Given the description of an element on the screen output the (x, y) to click on. 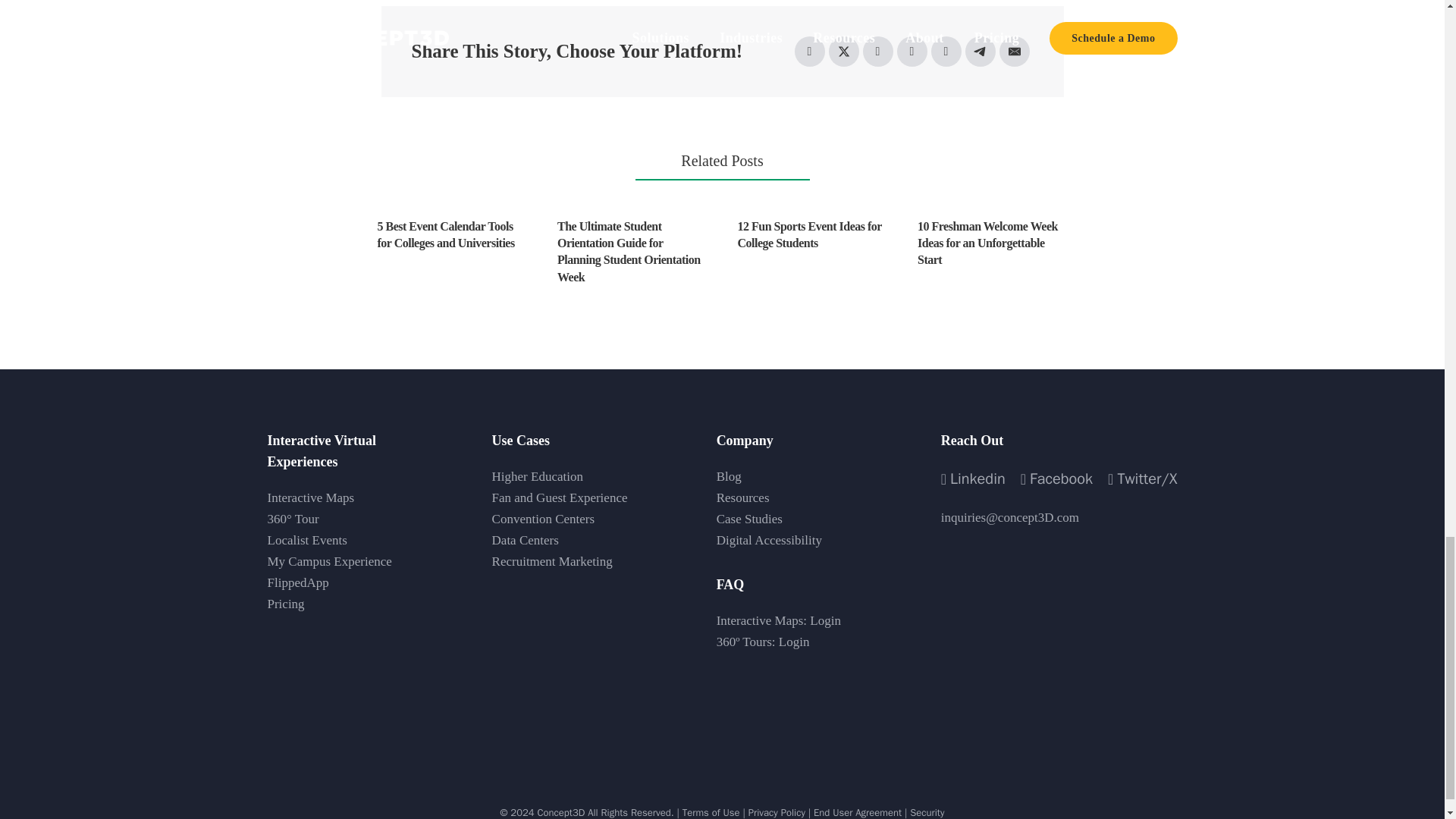
Visit Concept3D on Twitter (1142, 479)
Visit Concept3D on LinkedIn (973, 479)
Visit Concept3D on Facebook (1056, 479)
